Given the description of an element on the screen output the (x, y) to click on. 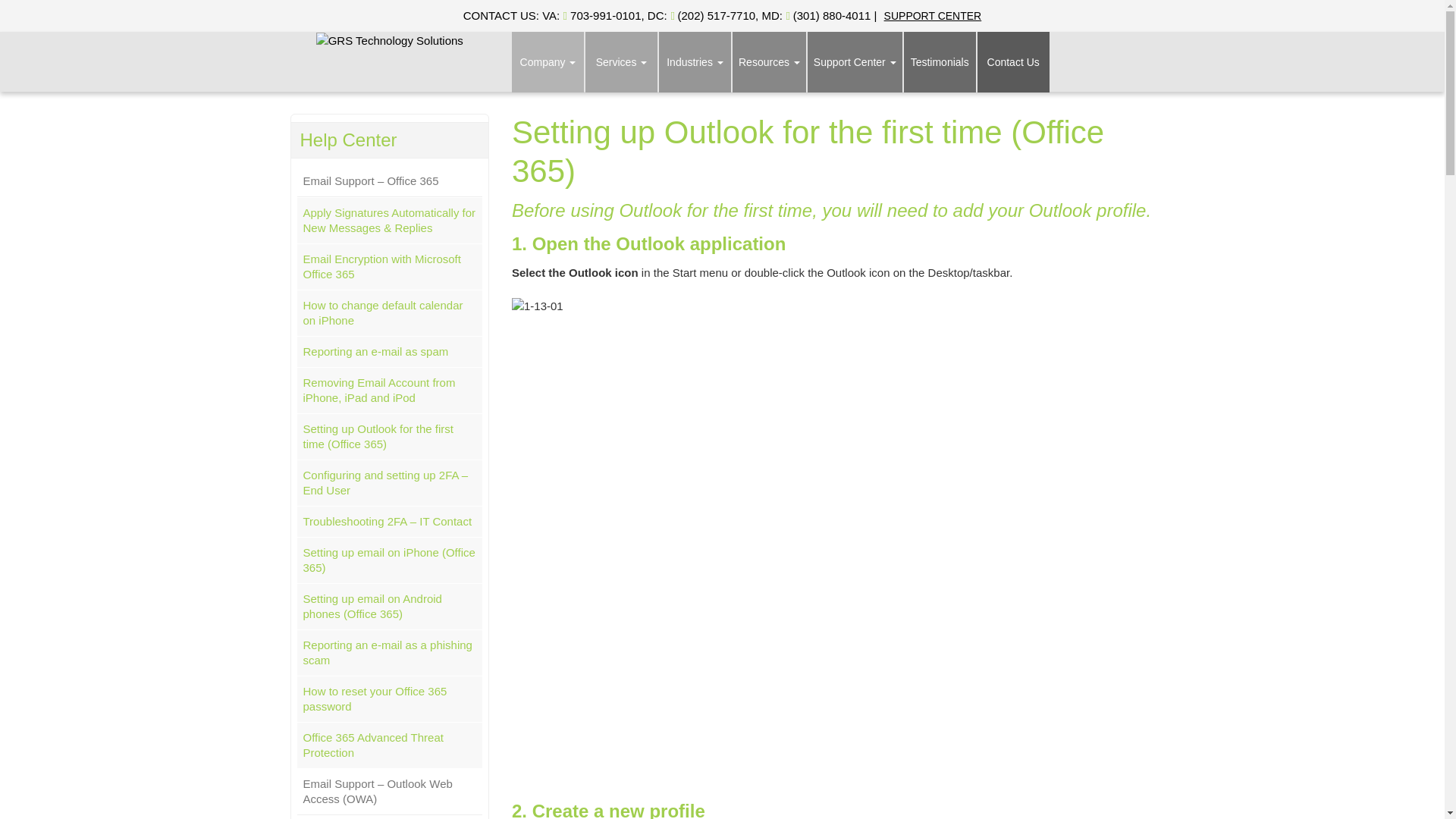
Industries (694, 61)
Resources (769, 61)
Company (547, 61)
Services (621, 61)
SUPPORT CENTER (932, 15)
Clients Testimonials (939, 61)
Support Center (855, 61)
Contact GRS Technology Solutions (1012, 61)
